Given the description of an element on the screen output the (x, y) to click on. 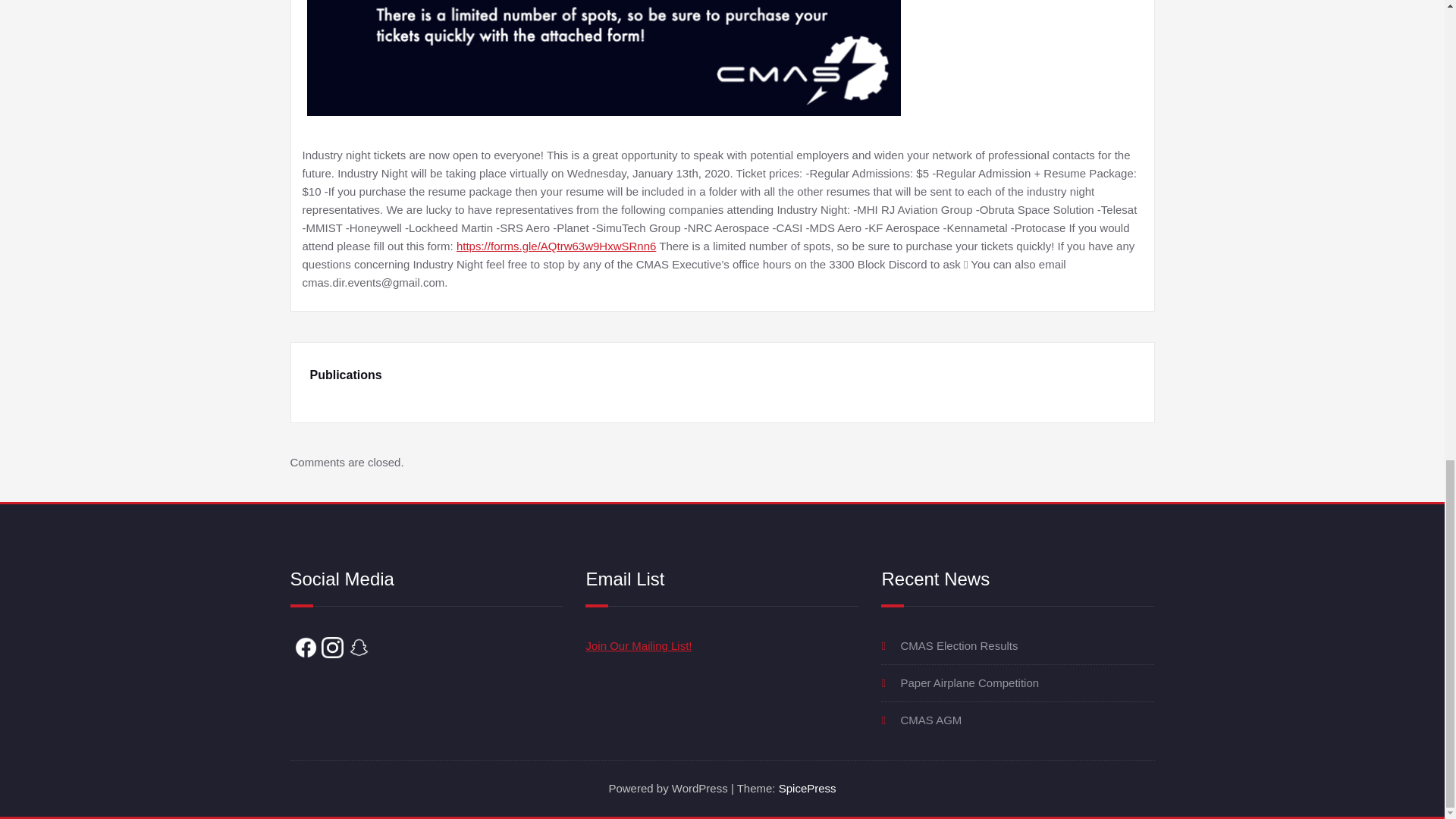
CMAS Election Results (958, 644)
Join Our Mailing List! (638, 644)
Paper Airplane Competition (969, 682)
CMAS AGM (929, 719)
SpicePress (806, 788)
